Given the description of an element on the screen output the (x, y) to click on. 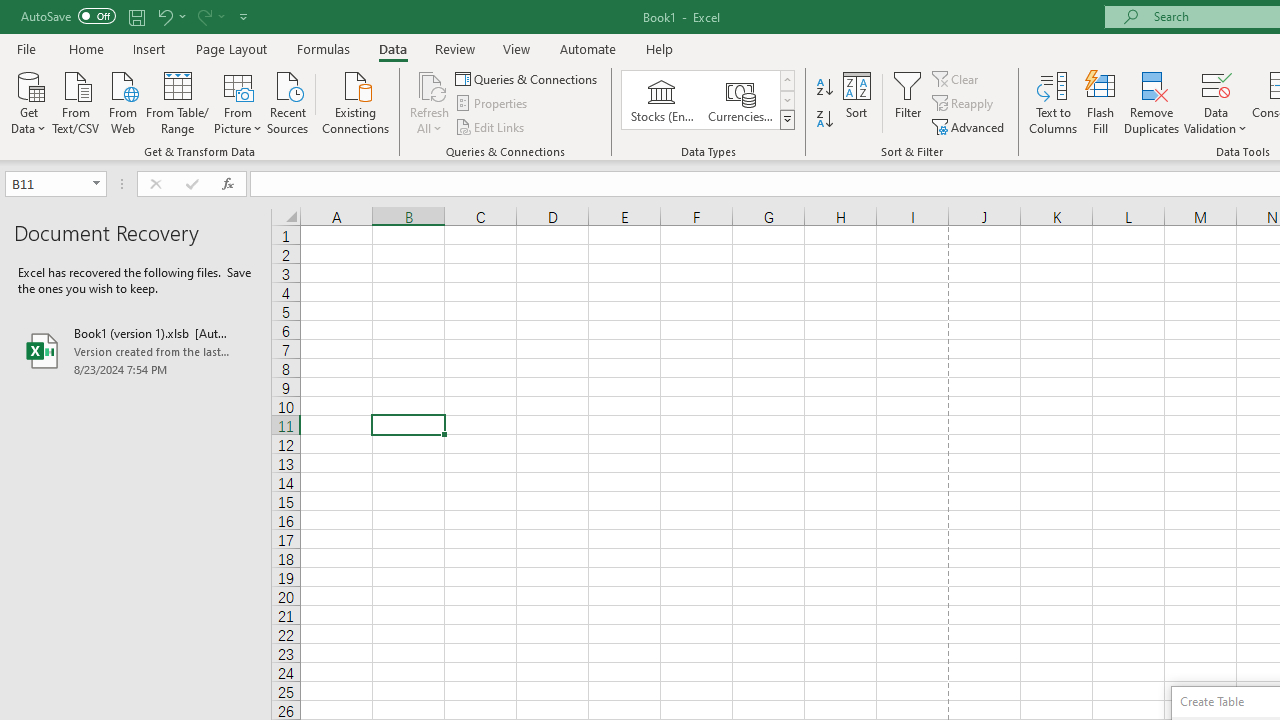
Recent Sources (287, 101)
From Text/CSV (75, 101)
Get Data (28, 101)
Currencies (English) (740, 100)
Clear (957, 78)
AutomationID: ConvertToLinkedEntity (708, 99)
Sort A to Z (824, 87)
Stocks (English) (662, 100)
Advanced... (970, 126)
